Given the description of an element on the screen output the (x, y) to click on. 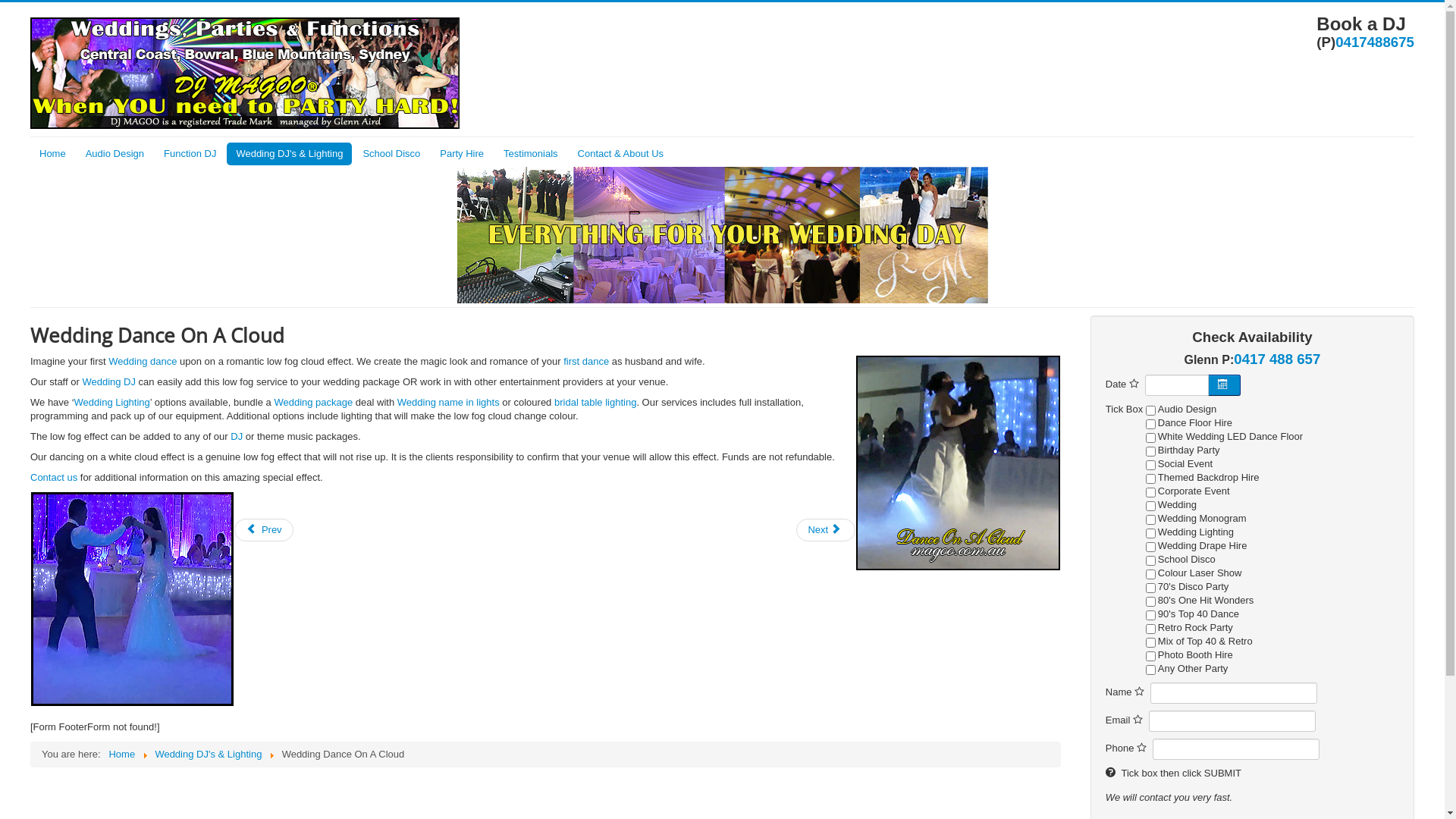
bridal table lighting Element type: text (595, 401)
Audio Design Element type: text (114, 153)
Home Element type: text (52, 153)
Testimonials Element type: text (530, 153)
Wedding DJ's & Lighting Element type: text (207, 753)
0417488675 Element type: text (1374, 42)
Dance on a Cloud Wedding smoke effect with DJ MAGOO Element type: hover (958, 462)
Next Element type: text (825, 529)
... Element type: text (1224, 384)
0417 488 657 Element type: text (1276, 359)
DJ Element type: text (236, 436)
first dance Element type: text (585, 361)
Wedding Lighting Element type: text (112, 401)
Wedding DJ Element type: text (108, 381)
Party Hire Element type: text (461, 153)
Prev Element type: text (263, 529)
Wedding package Element type: text (312, 401)
Wedding dance Element type: text (142, 361)
Function DJ Element type: text (189, 153)
Contact us Element type: text (53, 477)
Wedding name in lights Element type: text (448, 401)
Contact & About Us Element type: text (620, 153)
Home Element type: text (121, 753)
School Disco Element type: text (391, 153)
Wedding DJ's & Lighting Element type: text (288, 153)
